Given the description of an element on the screen output the (x, y) to click on. 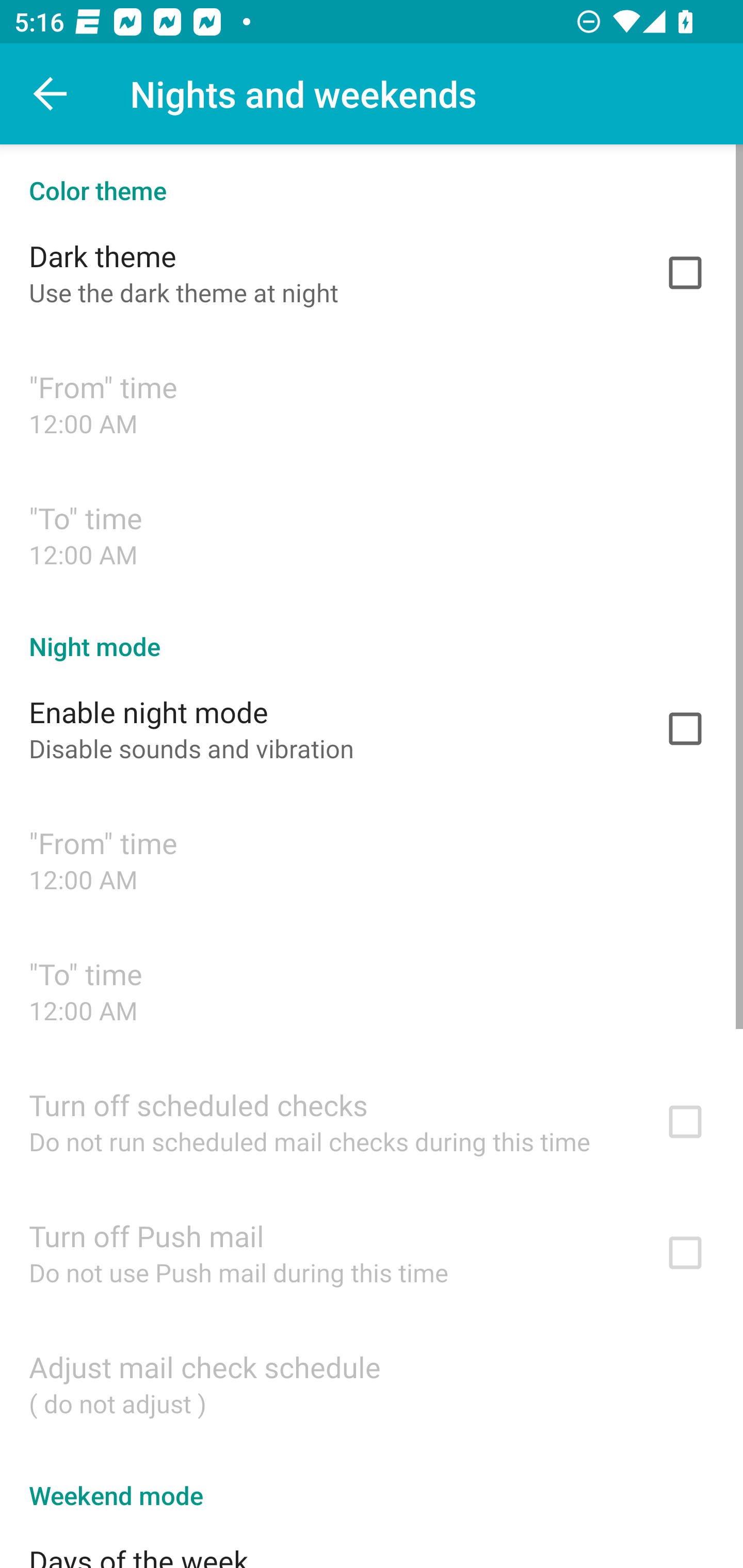
Navigate up (50, 93)
Dark theme Use the dark theme at night (371, 272)
"From" time 12:00 AM (371, 403)
"To" time 12:00 AM (371, 534)
Enable night mode Disable sounds and vibration (371, 728)
"From" time 12:00 AM (371, 859)
"To" time 12:00 AM (371, 990)
Adjust mail check schedule ( do not adjust ) (371, 1383)
